Given the description of an element on the screen output the (x, y) to click on. 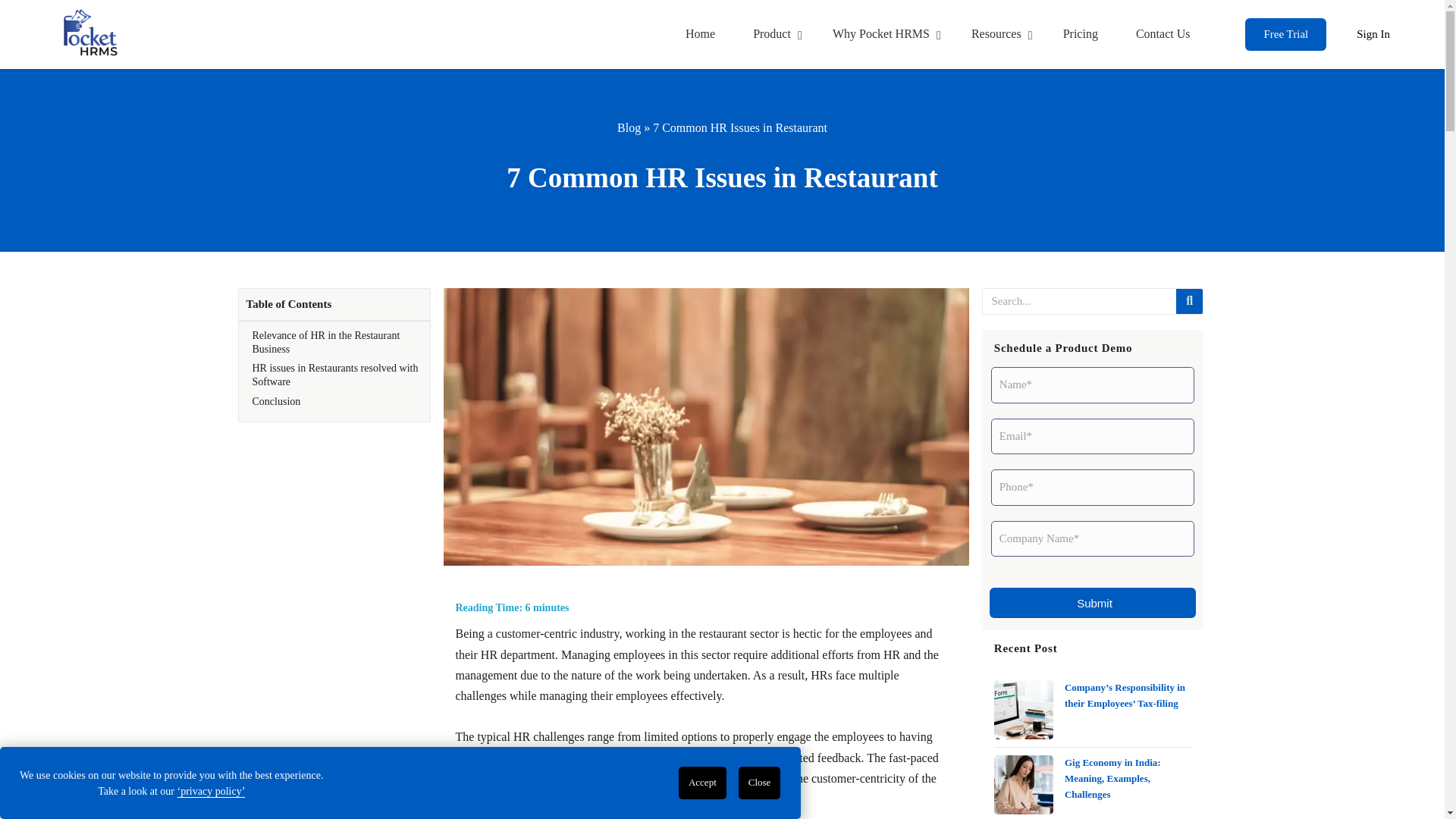
Sign In (937, 34)
Product (1372, 34)
Pricing (773, 34)
Free Trial (1080, 34)
Resources (1285, 34)
Why Pocket HRMS (998, 34)
Contact Us (882, 34)
Home (1163, 34)
